Given the description of an element on the screen output the (x, y) to click on. 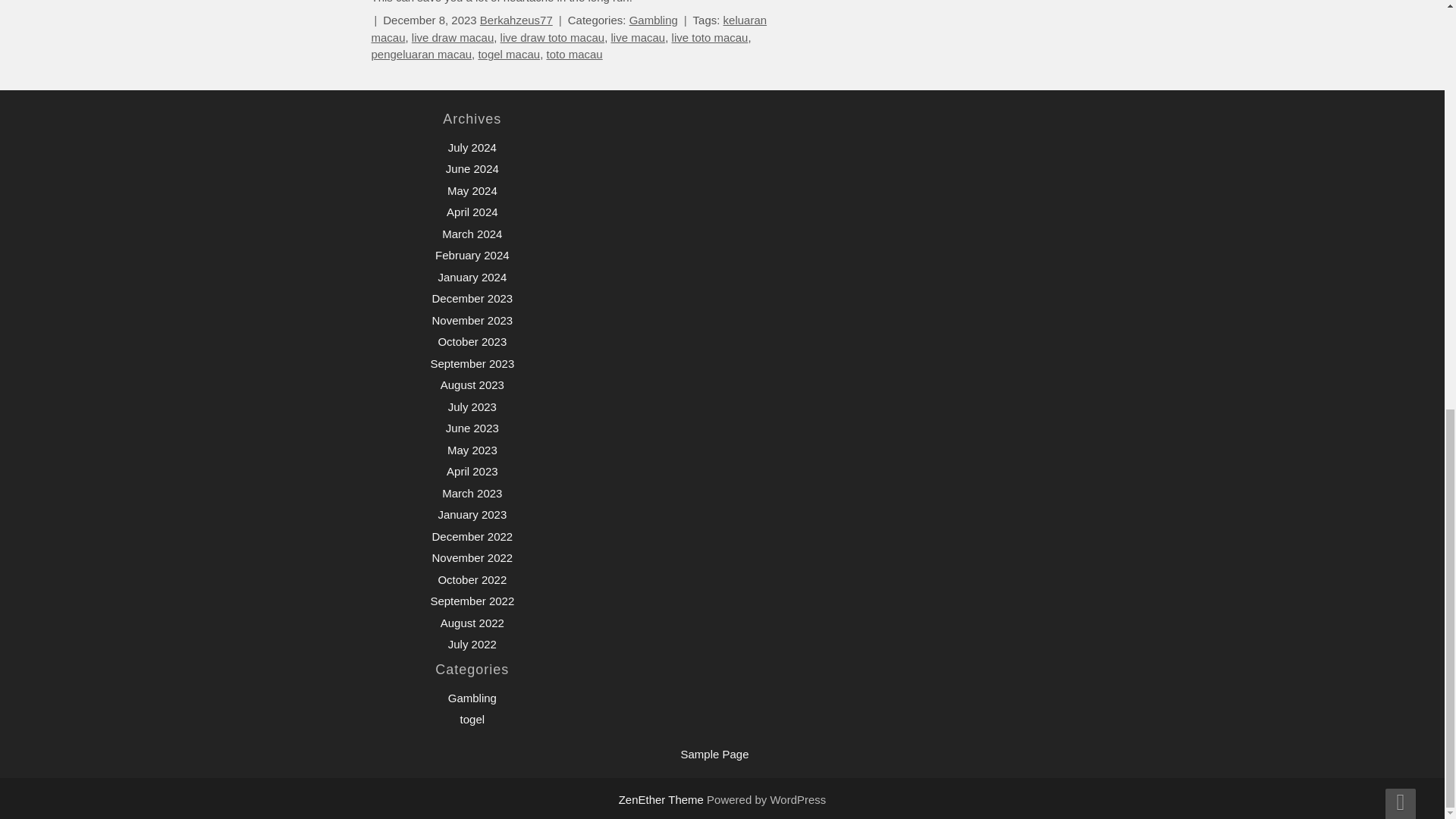
February 2024 (472, 254)
November 2023 (471, 319)
August 2023 (472, 384)
April 2023 (471, 471)
Berkahzeus77 (516, 19)
January 2024 (472, 277)
October 2023 (472, 341)
May 2024 (471, 190)
togel macau (508, 53)
December 2023 (471, 297)
ZenEther Theme (662, 799)
live draw macau (452, 37)
Posts by Berkahzeus77 (516, 19)
toto macau (574, 53)
keluaran macau (569, 28)
